Given the description of an element on the screen output the (x, y) to click on. 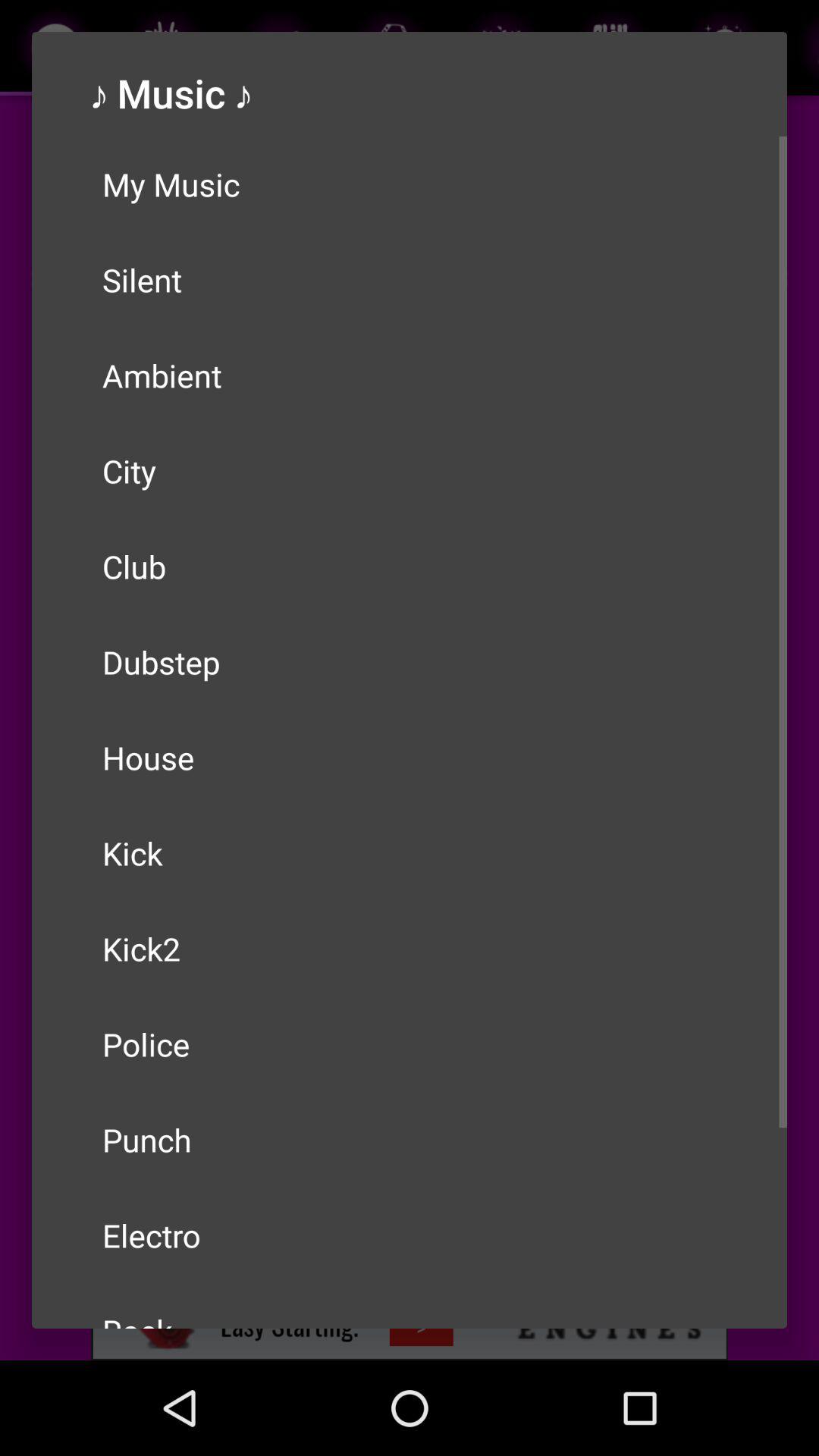
click the item below 		club icon (409, 661)
